Given the description of an element on the screen output the (x, y) to click on. 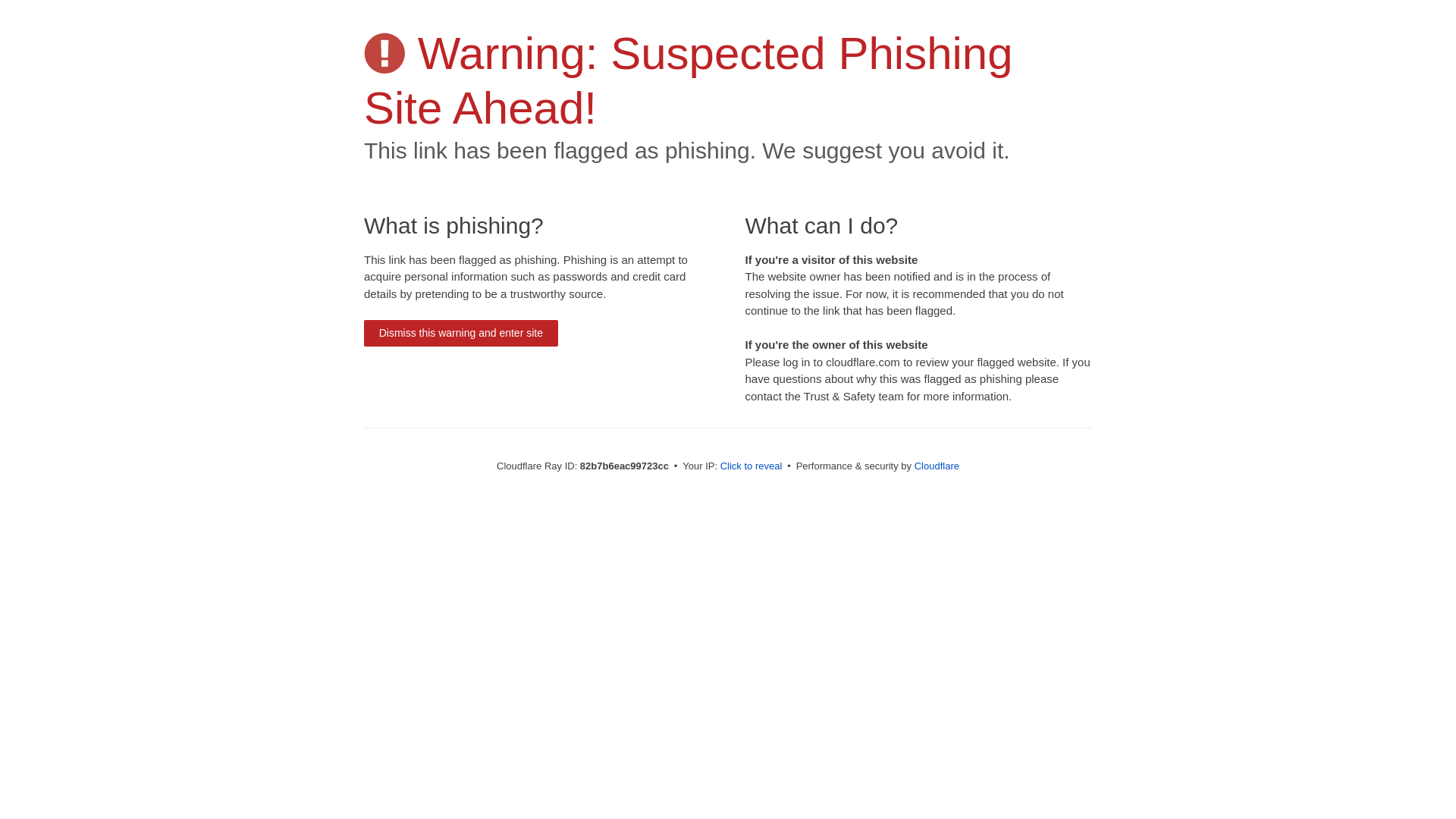
Cloudflare Element type: text (936, 465)
Dismiss this warning and enter site Element type: text (461, 333)
Click to reveal Element type: text (751, 465)
